Given the description of an element on the screen output the (x, y) to click on. 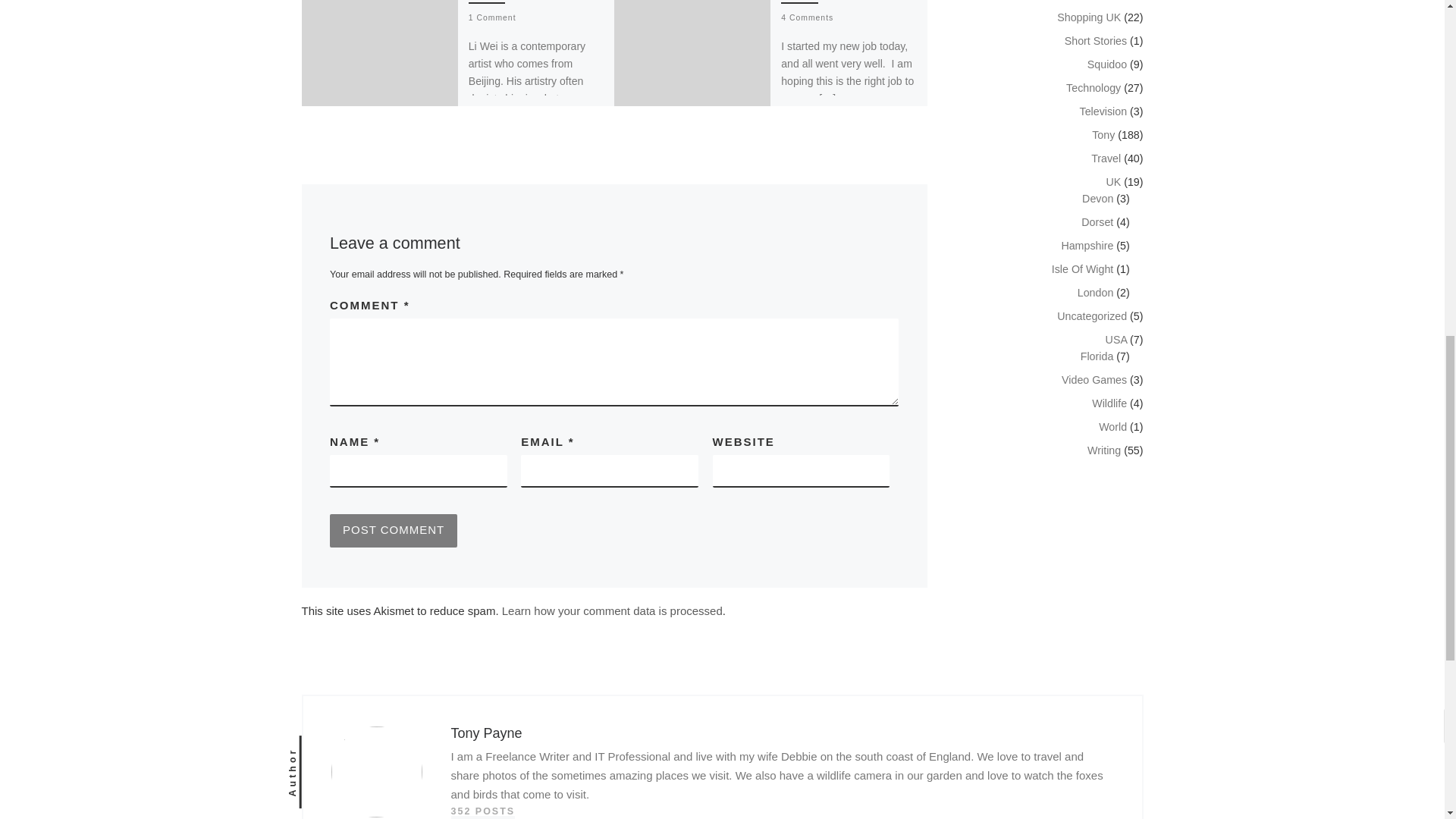
Post Comment (393, 530)
1 Comment (492, 17)
